Given the description of an element on the screen output the (x, y) to click on. 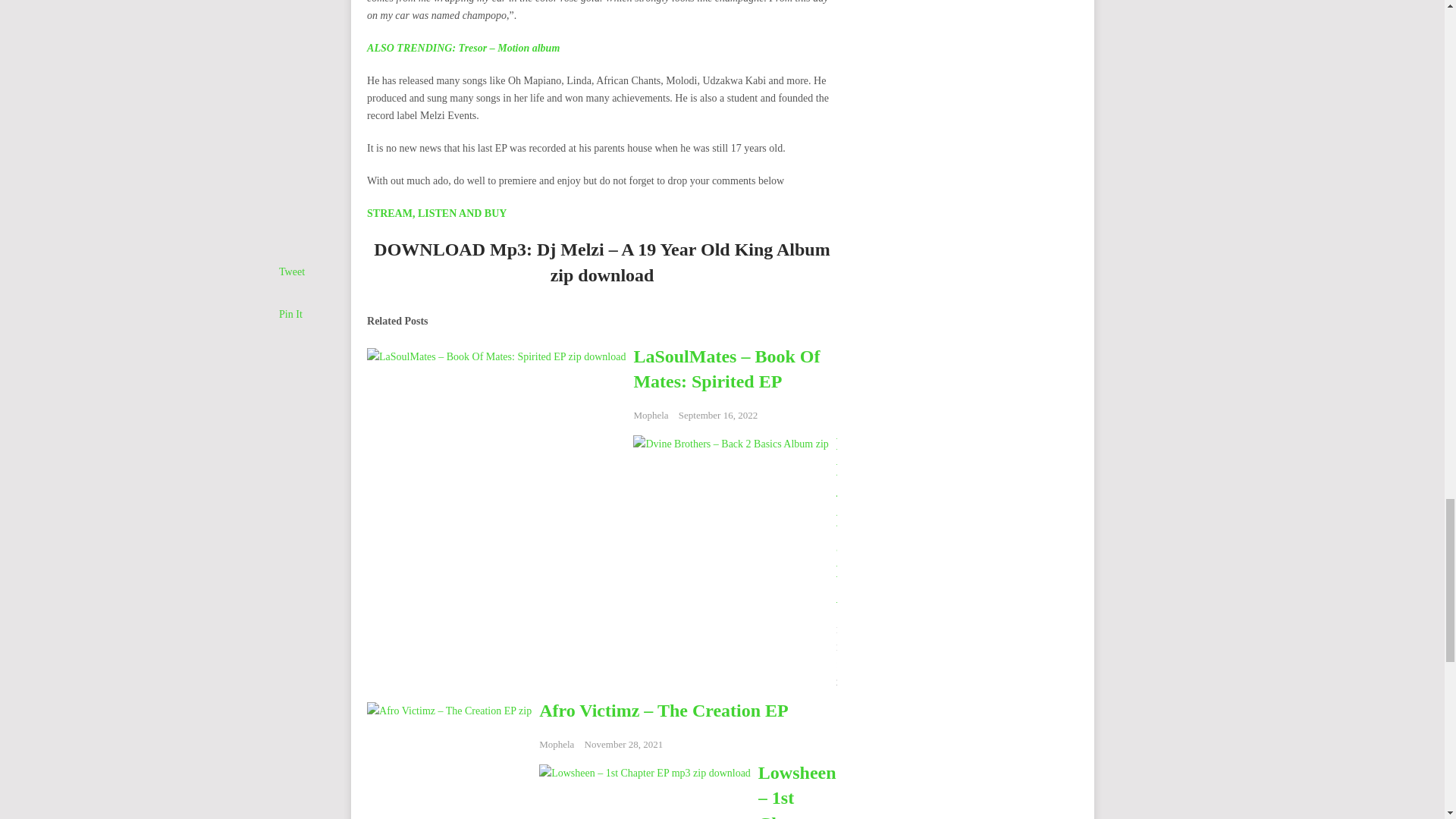
Mophela (650, 414)
Mophela (852, 629)
Mophela (555, 744)
STREAM, LISTEN AND BUY (436, 213)
